Given the description of an element on the screen output the (x, y) to click on. 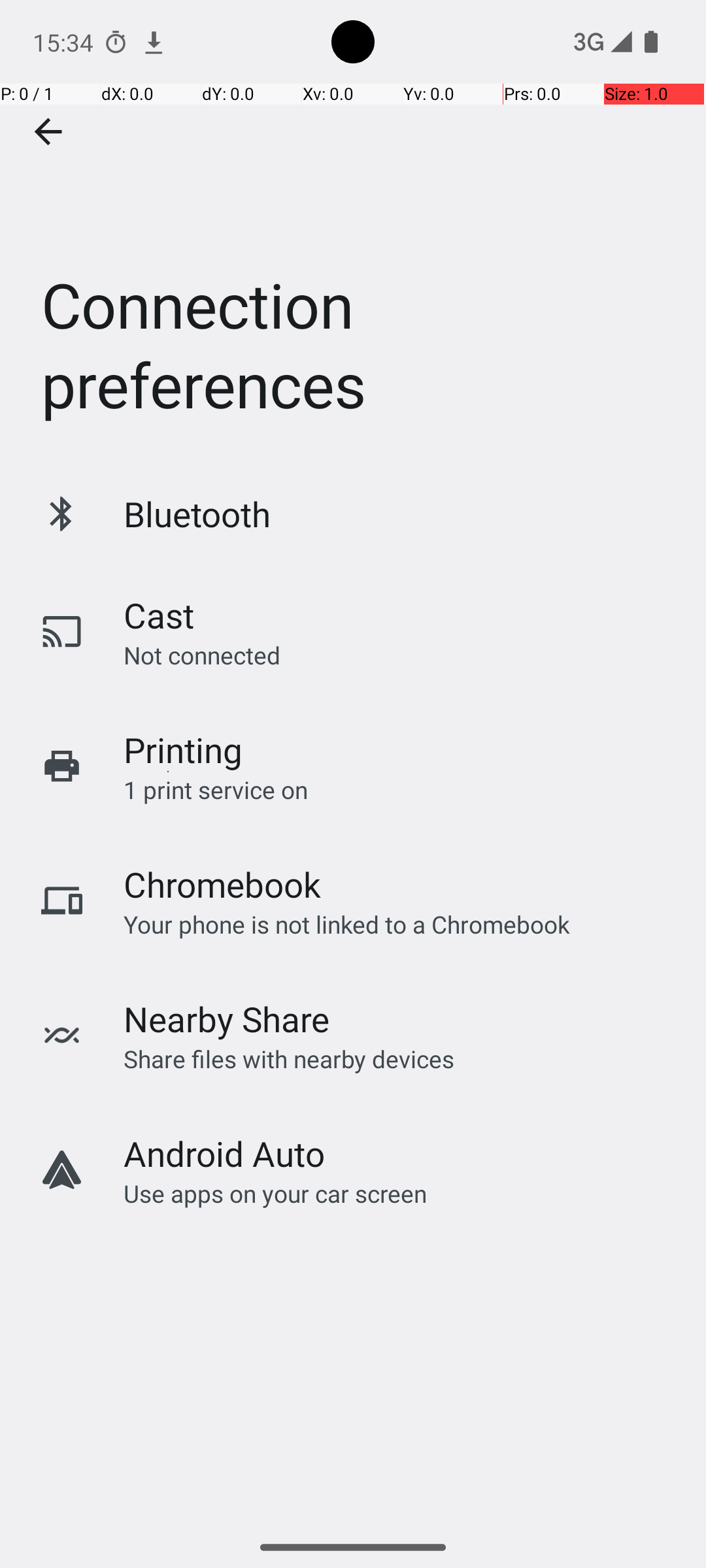
Cast Element type: android.widget.TextView (158, 614)
Not connected Element type: android.widget.TextView (201, 654)
Printing Element type: android.widget.TextView (182, 749)
1 print service on Element type: android.widget.TextView (215, 789)
Chromebook Element type: android.widget.TextView (222, 884)
Your phone is not linked to a Chromebook Element type: android.widget.TextView (346, 923)
Share files with nearby devices Element type: android.widget.TextView (288, 1058)
Use apps on your car screen Element type: android.widget.TextView (275, 1192)
